Given the description of an element on the screen output the (x, y) to click on. 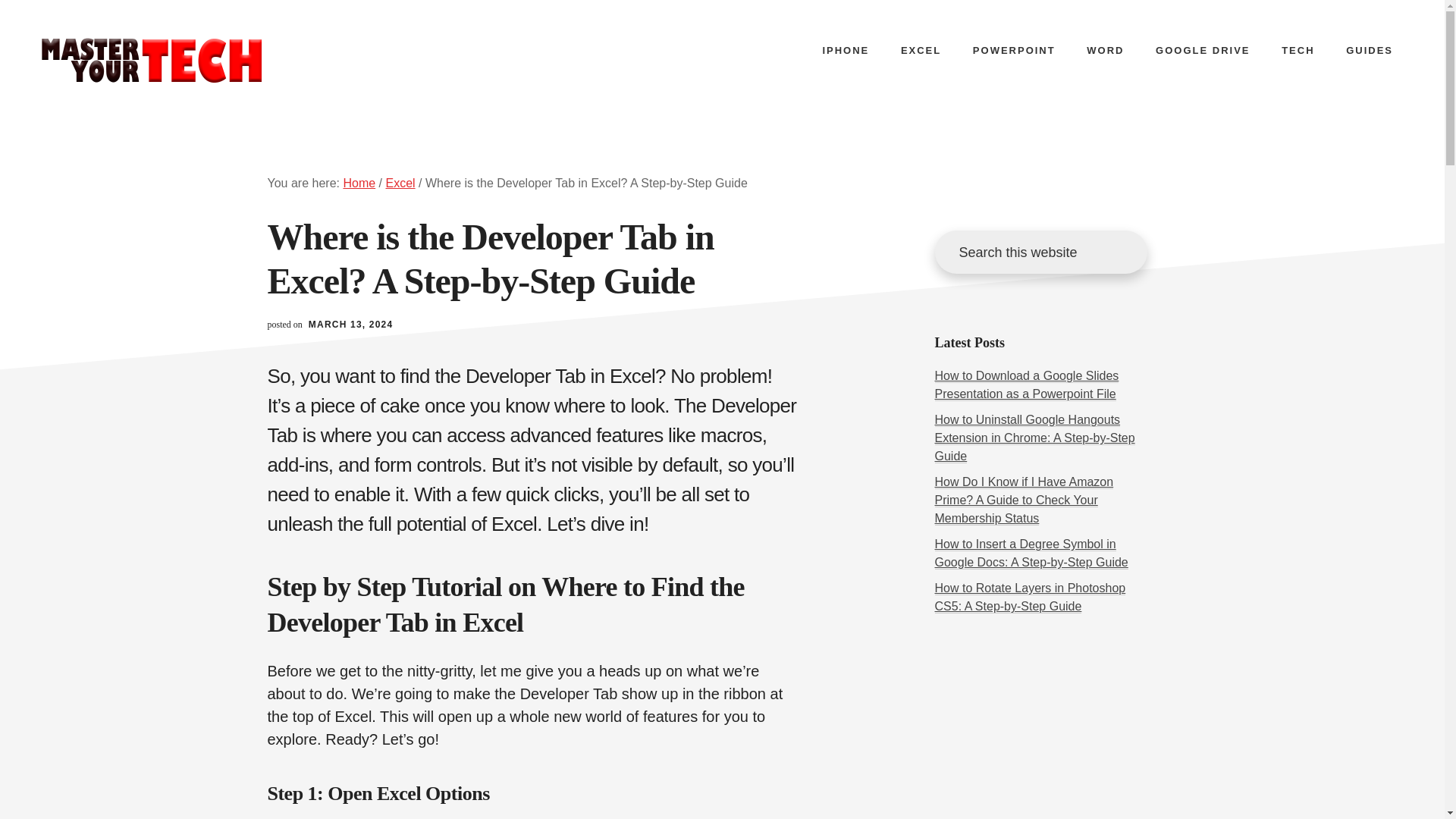
GUIDES (1369, 50)
IPHONE (845, 50)
TECH (1297, 50)
WORD (1105, 50)
Home (358, 182)
Excel (399, 182)
EXCEL (920, 50)
POWERPOINT (1013, 50)
